Given the description of an element on the screen output the (x, y) to click on. 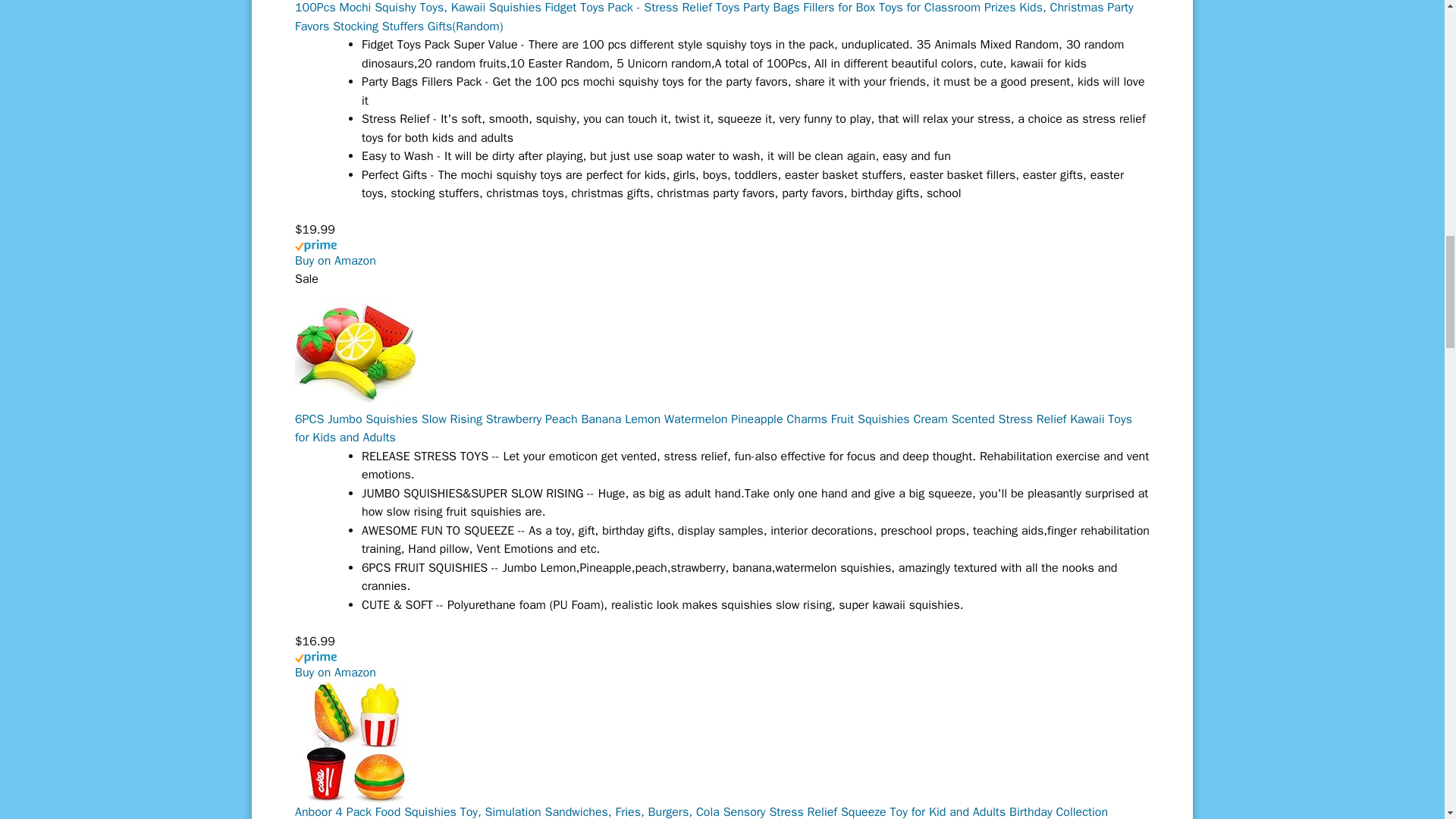
Buy on Amazon (335, 260)
Buy on Amazon (335, 671)
Buy on Amazon (335, 671)
Amazon Prime (722, 664)
Buy on Amazon (335, 260)
Amazon Prime (722, 253)
